Given the description of an element on the screen output the (x, y) to click on. 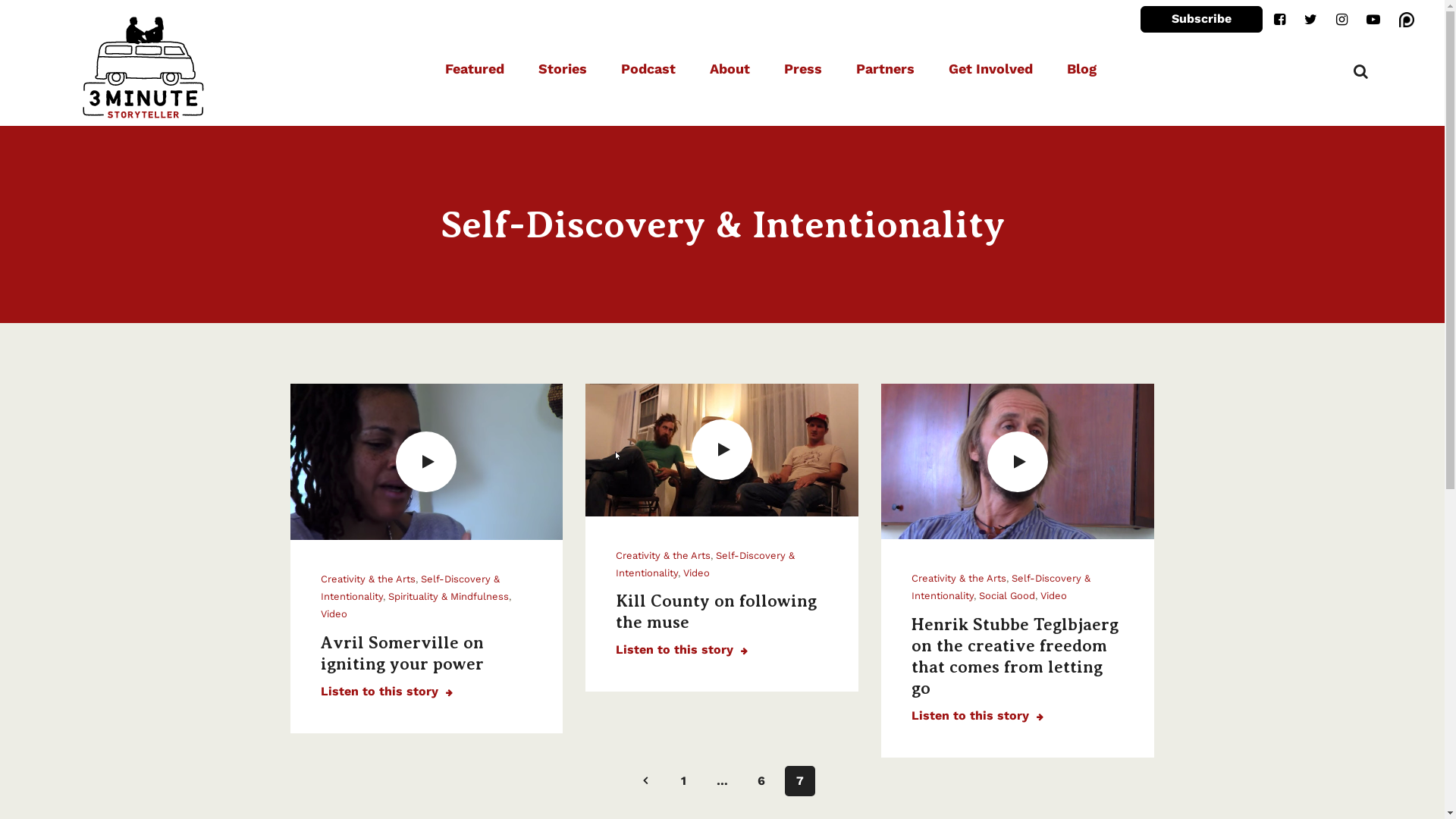
Video Element type: text (696, 572)
Social Good Element type: text (1007, 595)
Self-Discovery & Intentionality Element type: text (1000, 586)
Self-Discovery & Intentionality Element type: text (409, 587)
Subscribe Element type: text (1201, 19)
Self-Discovery & Intentionality Element type: text (704, 563)
Spirituality & Mindfulness Element type: text (448, 596)
PREVIOUS Element type: text (644, 780)
Listen to this story Element type: text (681, 649)
Kill County on following the muse Element type: text (715, 611)
Get Involved Element type: text (990, 68)
Twitter Element type: hover (1310, 19)
Click Me Element type: hover (1373, 19)
3 Minute Storyteller Element type: hover (142, 68)
Listen to this story Element type: text (385, 691)
Creativity & the Arts Element type: text (367, 578)
Creativity & the Arts Element type: text (958, 577)
Blog Element type: text (1081, 68)
Creativity & the Arts Element type: text (662, 555)
Video Element type: text (1053, 595)
About Element type: text (729, 68)
6 Element type: text (761, 780)
1 Element type: text (683, 780)
Press Element type: text (803, 68)
Featured Element type: text (474, 68)
Podcast Element type: text (648, 68)
Partners Element type: text (885, 68)
Video Element type: text (333, 613)
Stories Element type: text (562, 68)
Instagram Element type: hover (1341, 19)
Facebook Element type: hover (1279, 19)
Click Me Element type: hover (1406, 19)
Avril Somerville on igniting your power Element type: text (401, 653)
Listen to this story Element type: text (977, 715)
